Given the description of an element on the screen output the (x, y) to click on. 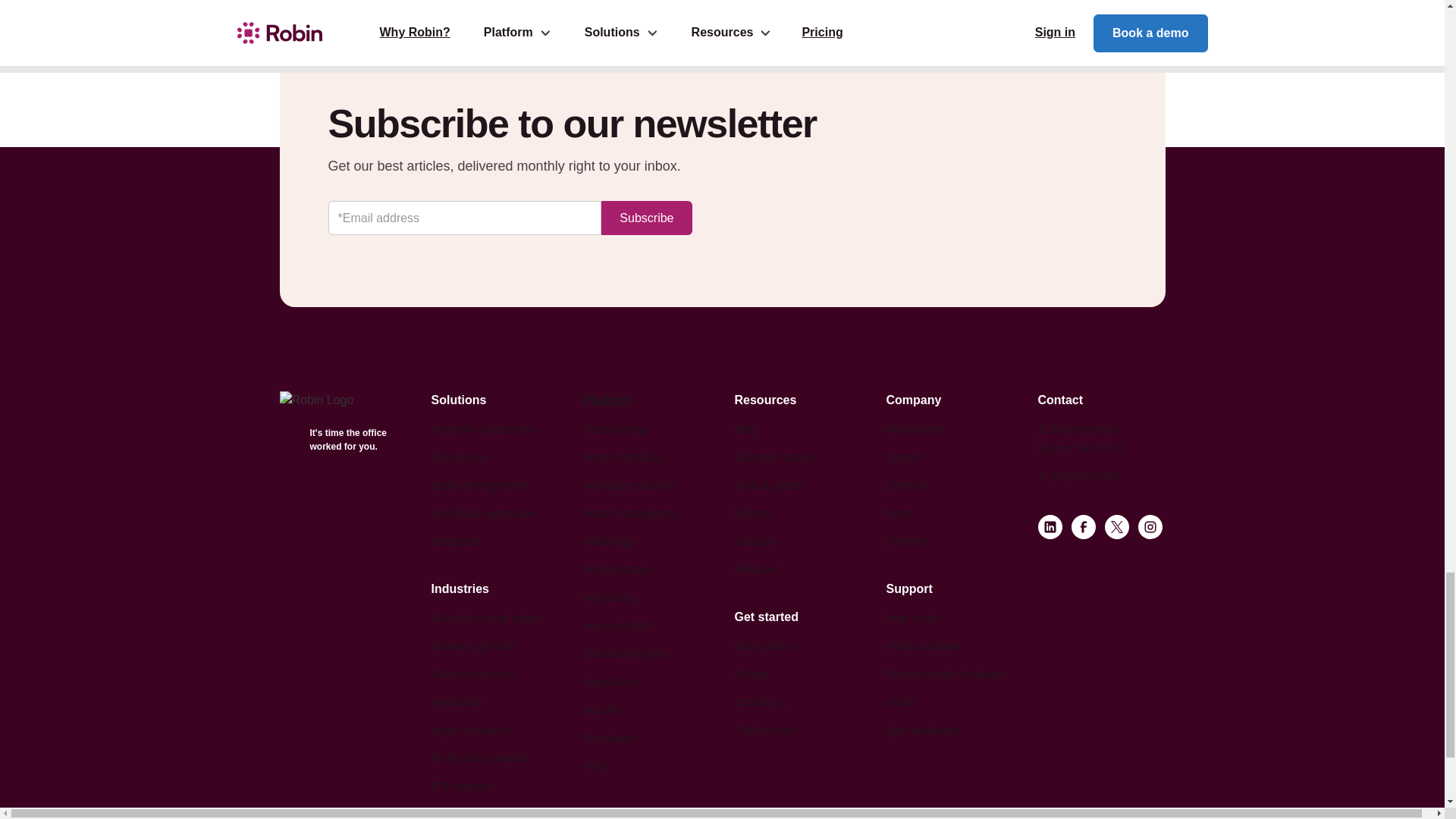
Subscribe (646, 217)
